Given the description of an element on the screen output the (x, y) to click on. 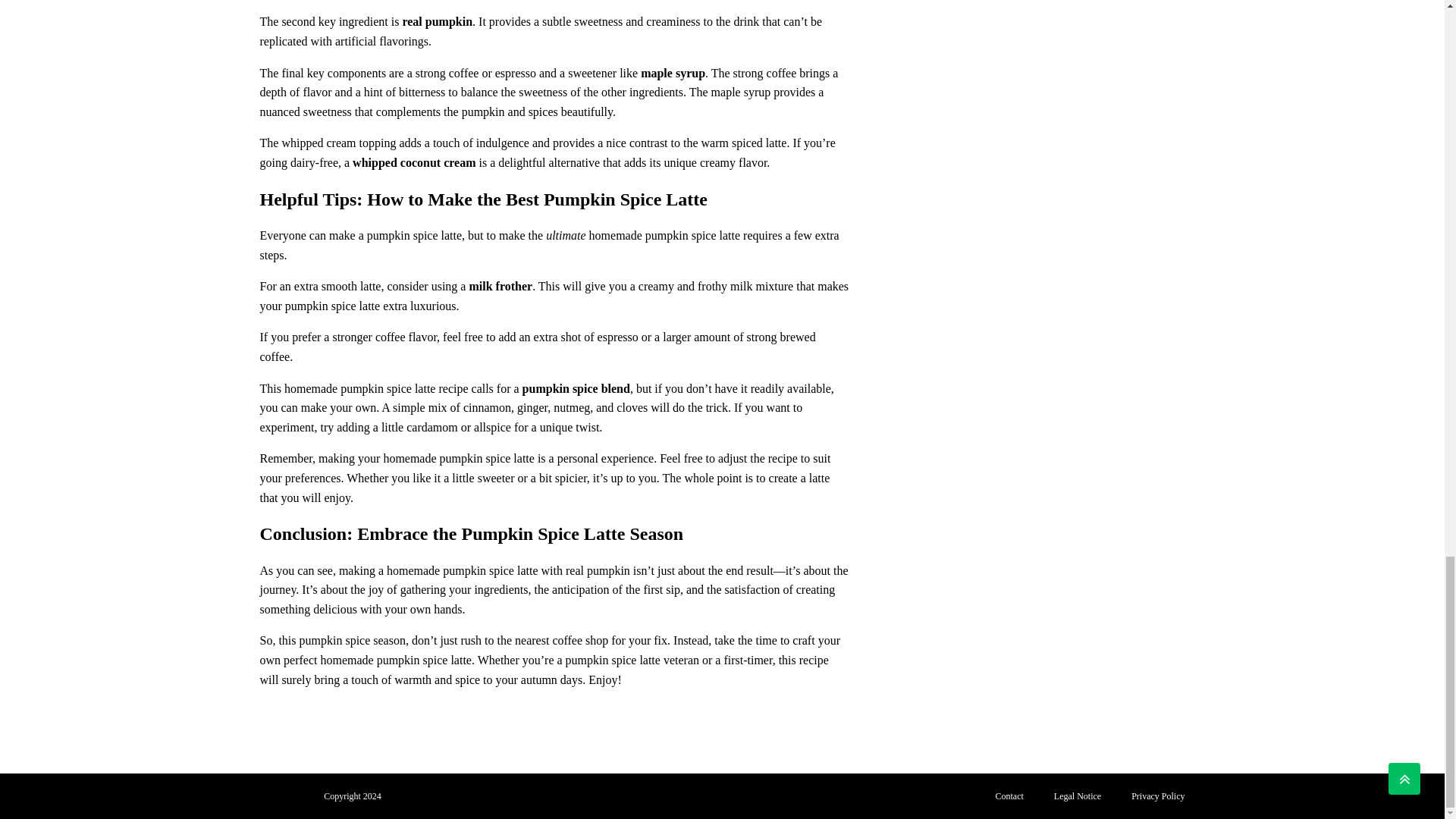
Legal Notice (1077, 796)
Contact (1009, 796)
Privacy Policy (1157, 796)
